Given the description of an element on the screen output the (x, y) to click on. 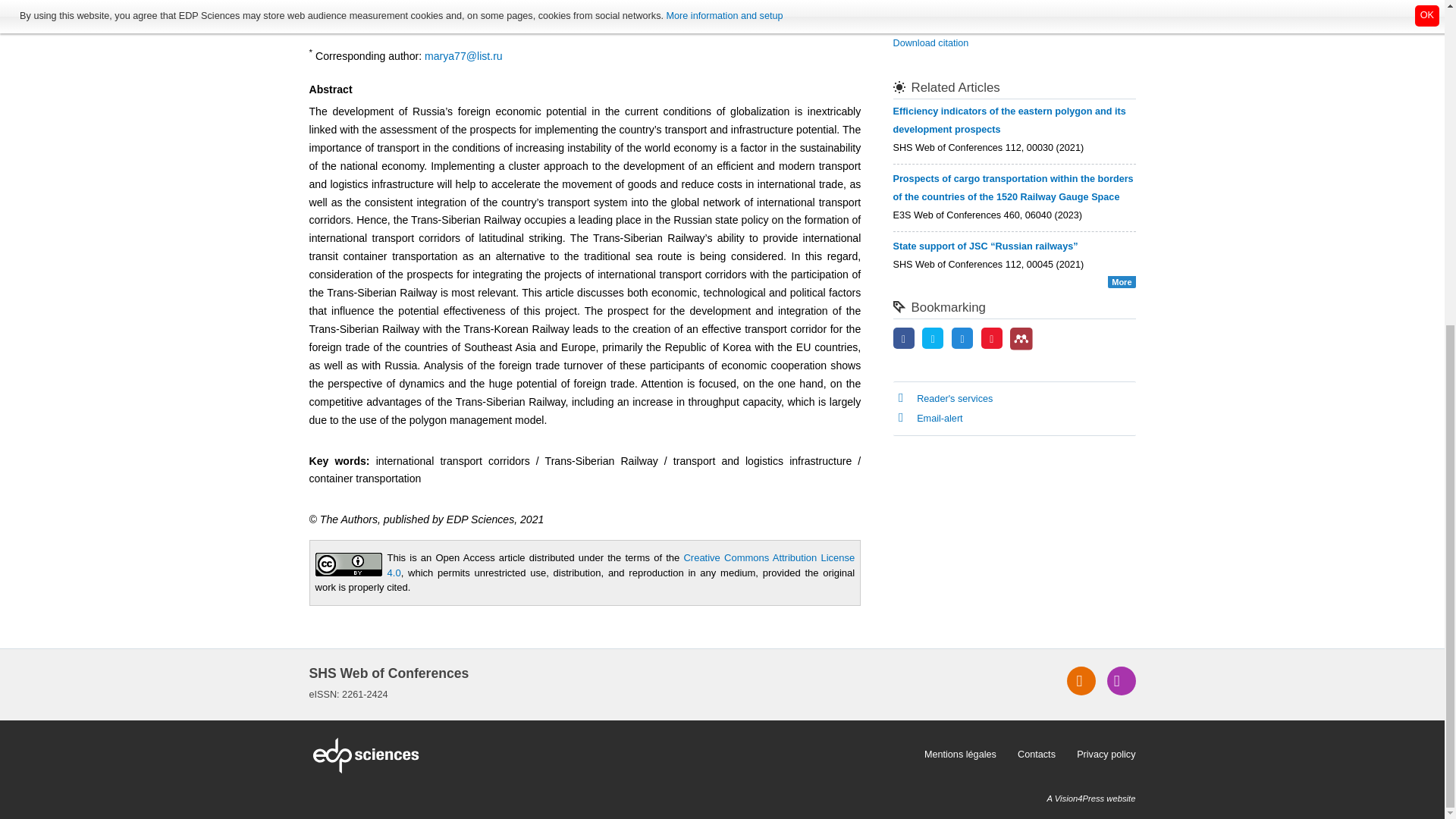
Mendeley (1021, 338)
